Given the description of an element on the screen output the (x, y) to click on. 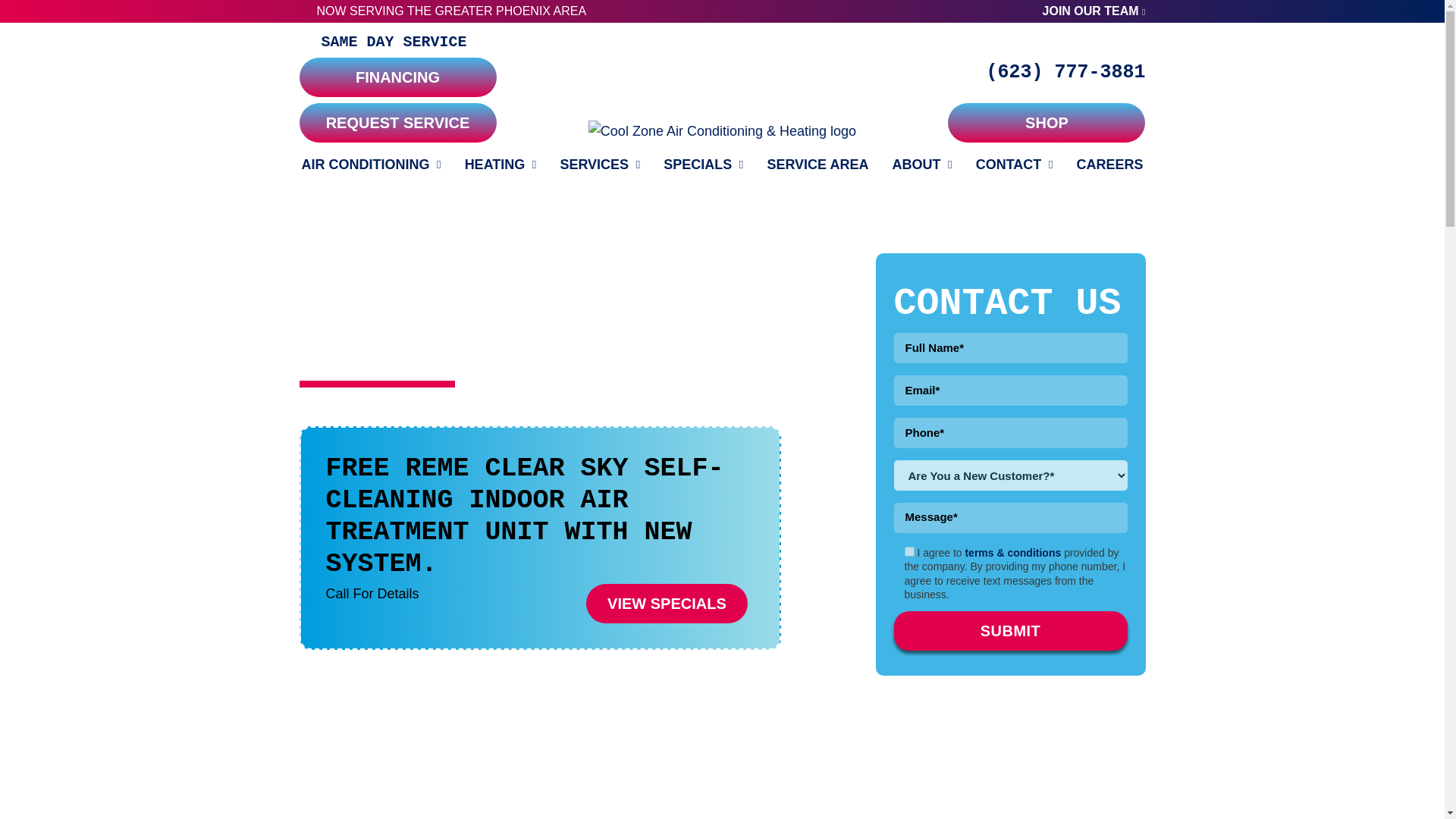
1 (909, 551)
SHOP (1045, 122)
Submit (1009, 630)
FINANCING (397, 77)
JOIN OUR TEAM (1093, 10)
REQUEST SERVICE (397, 122)
